Given the description of an element on the screen output the (x, y) to click on. 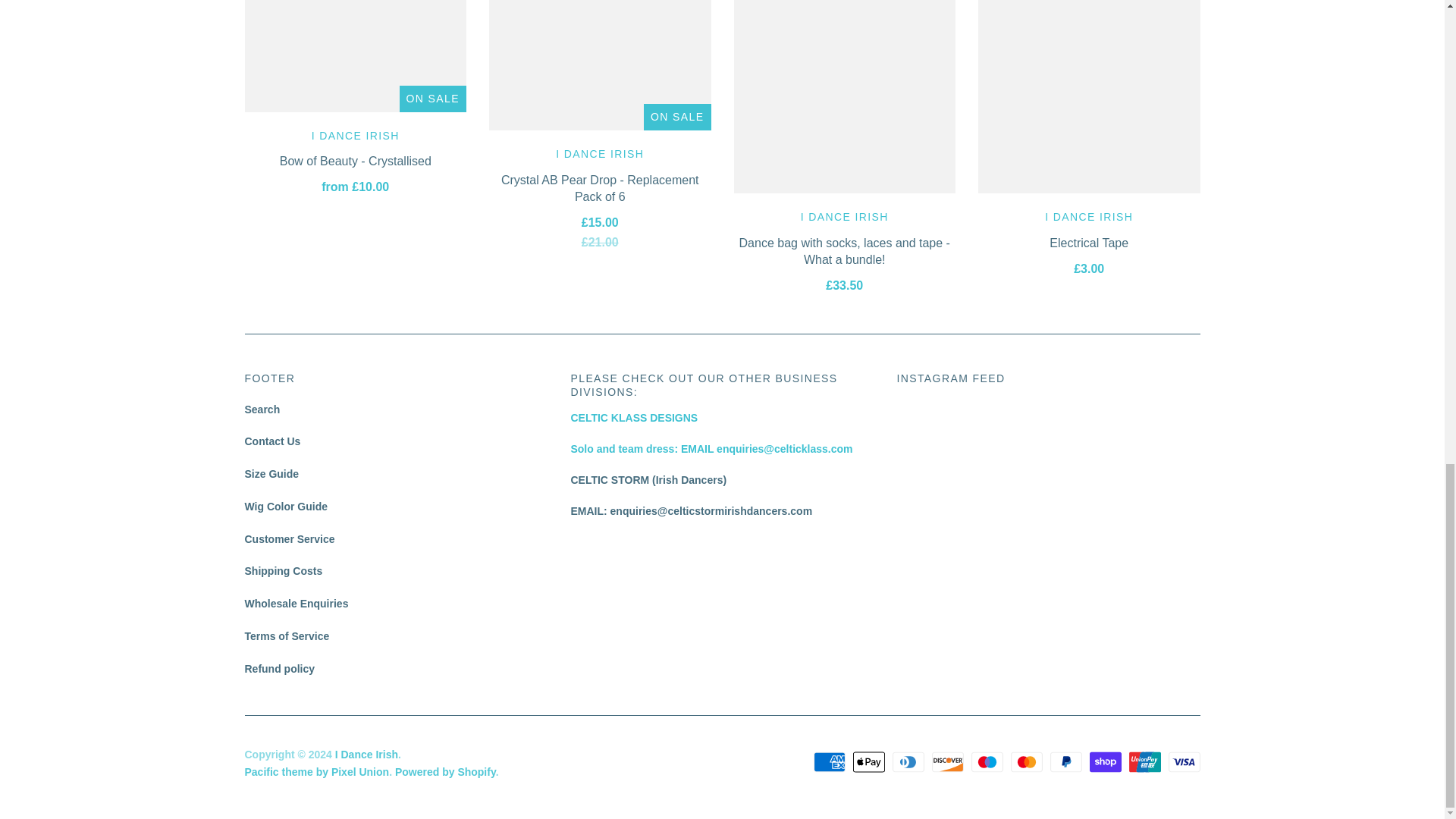
I Dance Irish (599, 153)
CELTIC KLASS DESIGNS (710, 449)
I DANCE IRISH (599, 153)
Visa (1183, 762)
I DANCE IRISH (354, 135)
Mastercard (1026, 762)
CELTIC KLASS DESIGNS (633, 417)
I Dance Irish (1088, 216)
Discover (946, 762)
Bow of Beauty - Crystallised (354, 160)
